Given the description of an element on the screen output the (x, y) to click on. 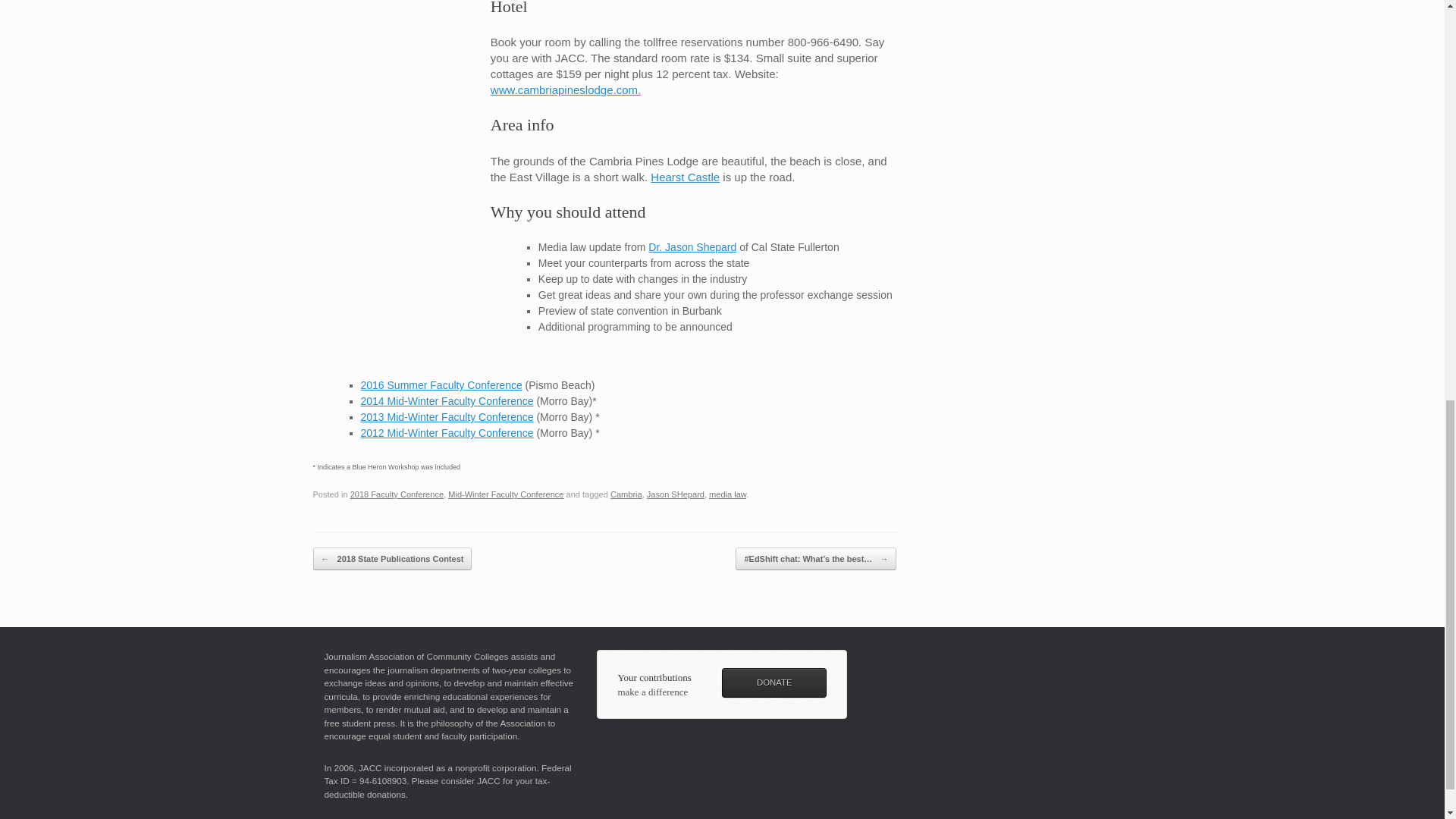
Jason SHepard (675, 493)
media law (727, 493)
Mid-Winter Faculty Conference (505, 493)
www.cambriapineslodge.com. (565, 89)
Hearst Castle (684, 176)
2016 Summer Faculty Conference (441, 385)
2018 Faculty Conference (397, 493)
2013 Mid-Winter Faculty Conference (447, 417)
2014 Mid-Winter Faculty Conference (447, 400)
2012 Mid-Winter Faculty Conference (447, 432)
Cambria (626, 493)
Dr. Jason Shepard (691, 246)
